Given the description of an element on the screen output the (x, y) to click on. 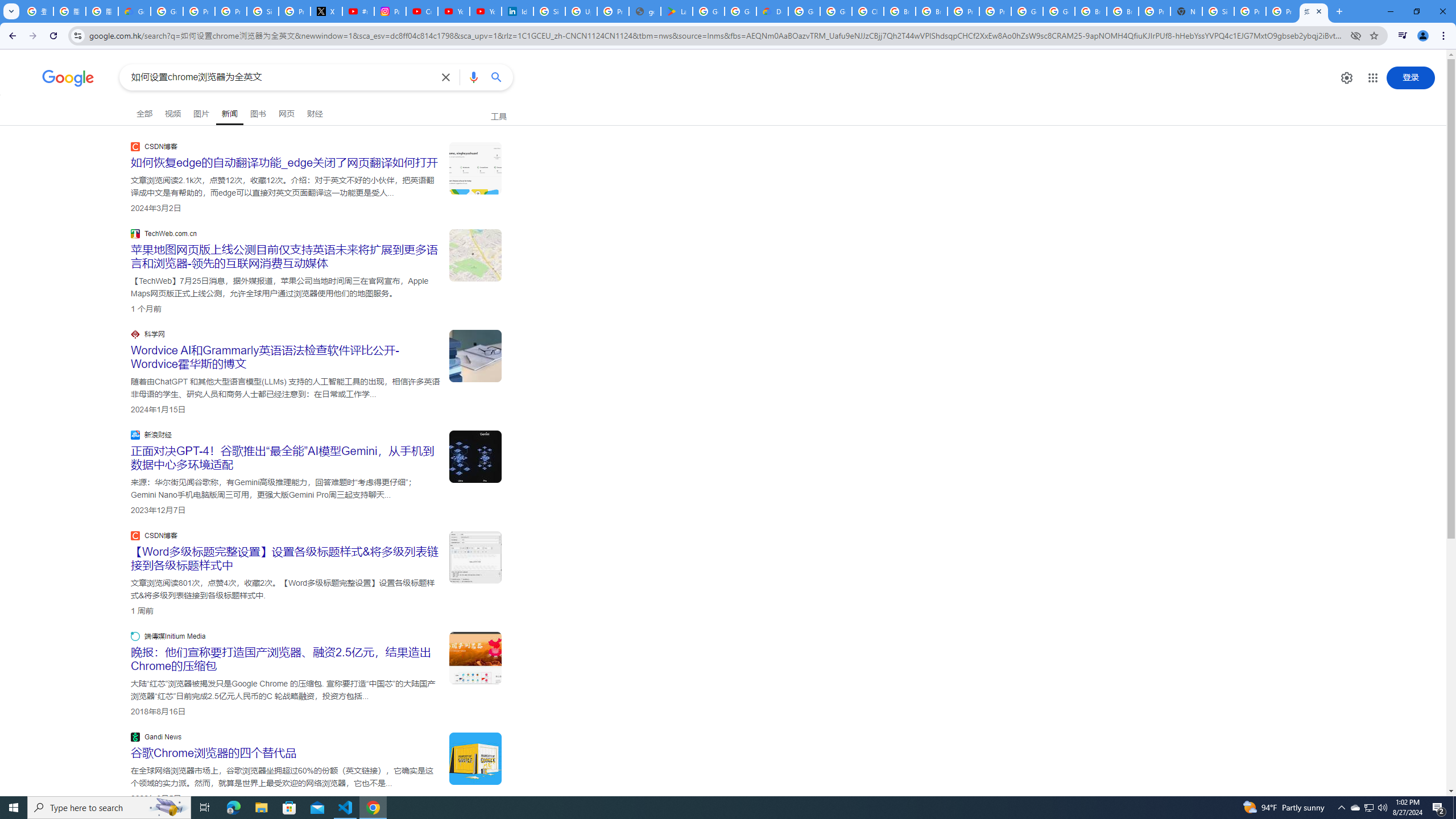
Last Shelter: Survival - Apps on Google Play (676, 11)
